Given the description of an element on the screen output the (x, y) to click on. 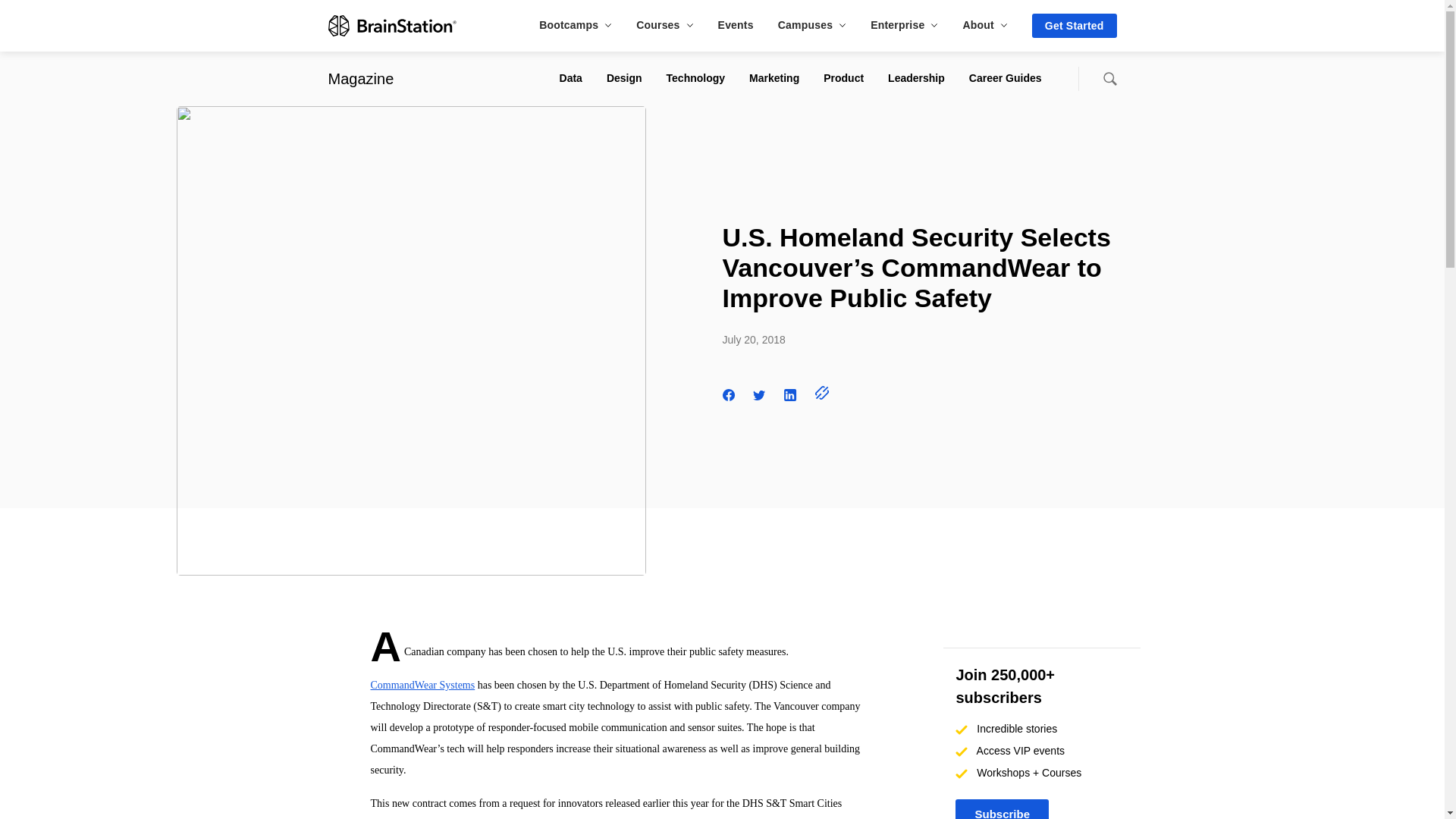
Bootcamps (574, 24)
Campuses (811, 24)
About (984, 24)
Enterprise (903, 24)
BrainStation Magazine (360, 78)
Events (735, 24)
Search (1109, 78)
Courses (664, 24)
